Given the description of an element on the screen output the (x, y) to click on. 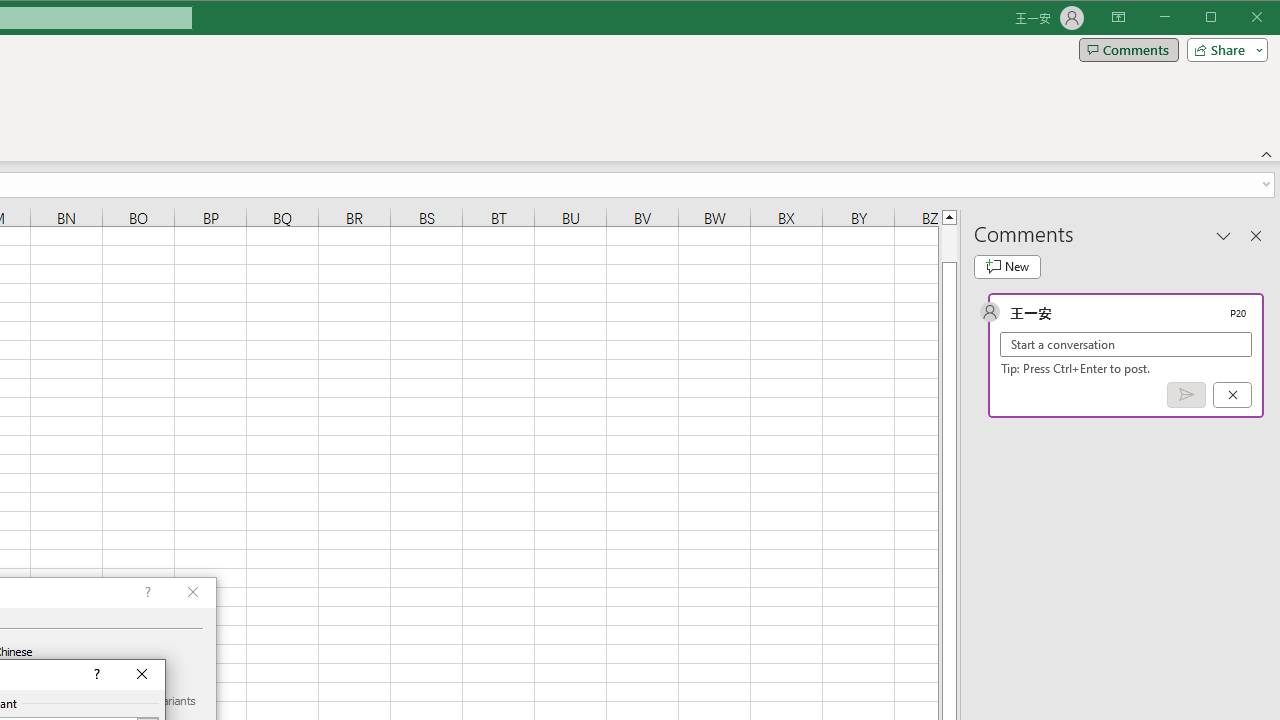
Post comment (Ctrl + Enter) (1186, 395)
New comment (1007, 266)
Cancel (1232, 395)
Maximize (1239, 18)
Page up (948, 243)
Context help (95, 674)
Start a conversation (1126, 344)
